Given the description of an element on the screen output the (x, y) to click on. 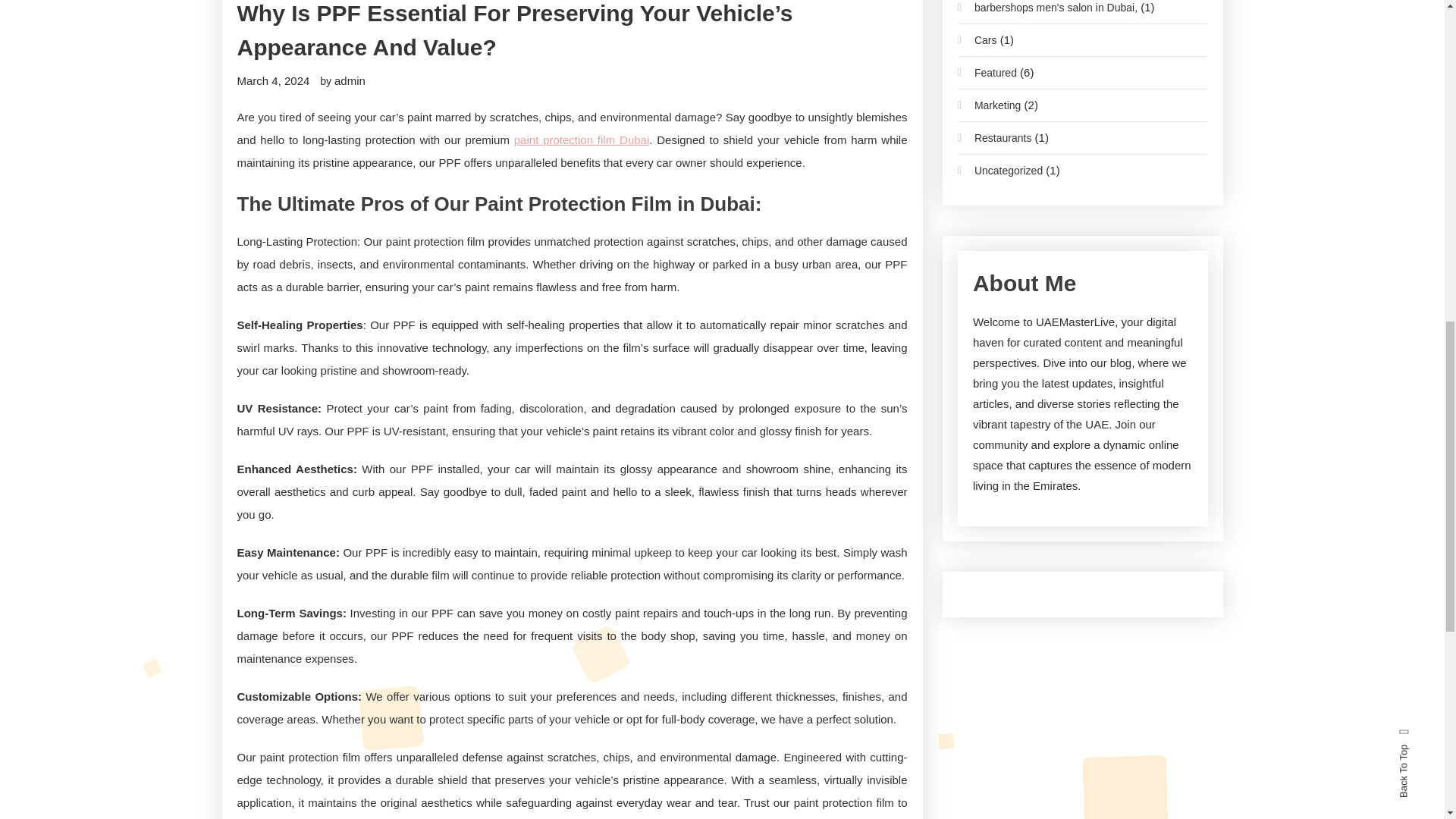
paint protection film Dubai (581, 139)
admin (349, 80)
March 4, 2024 (271, 80)
